Given the description of an element on the screen output the (x, y) to click on. 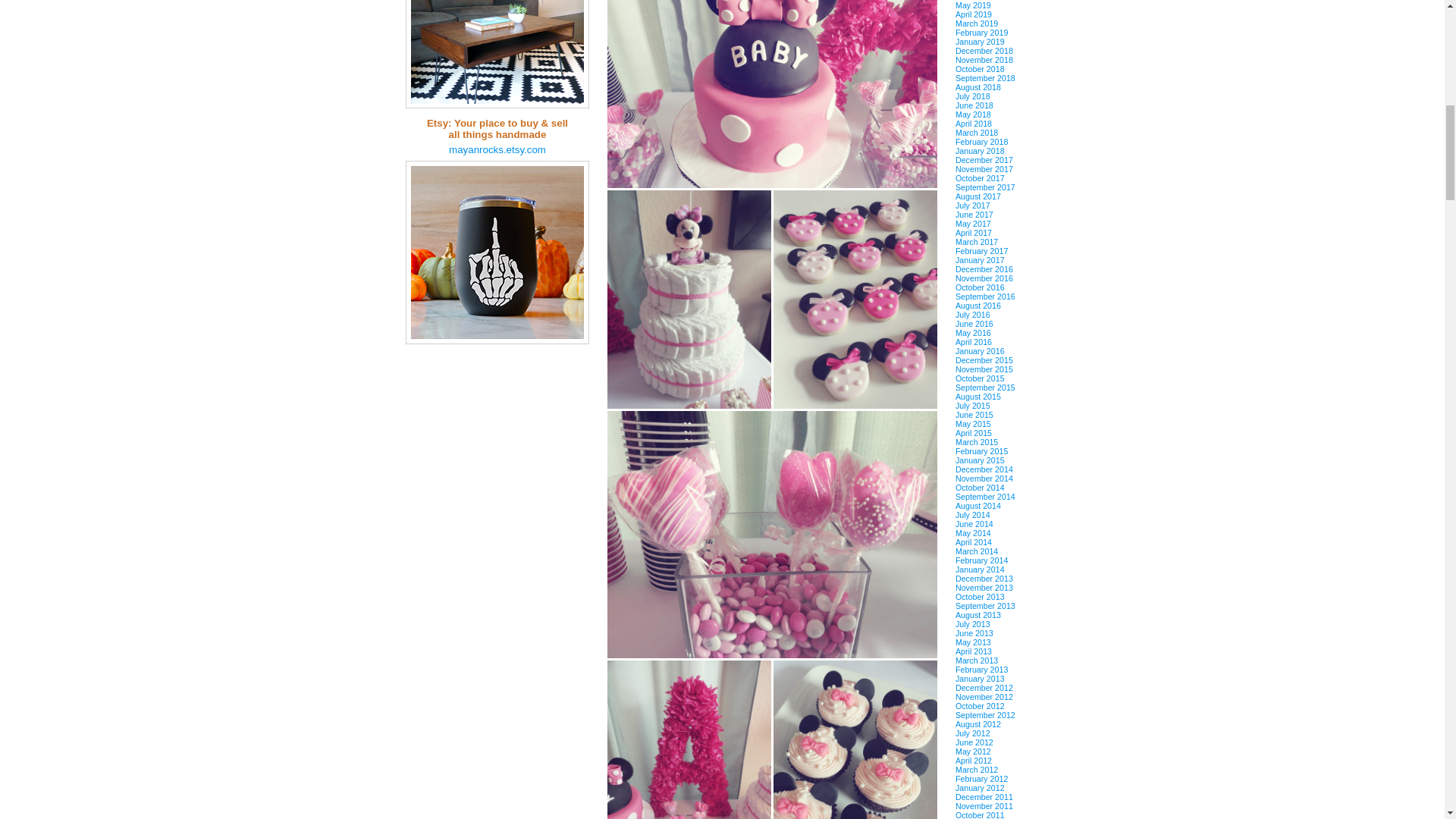
mayanrocks.etsy.com (497, 149)
